Given the description of an element on the screen output the (x, y) to click on. 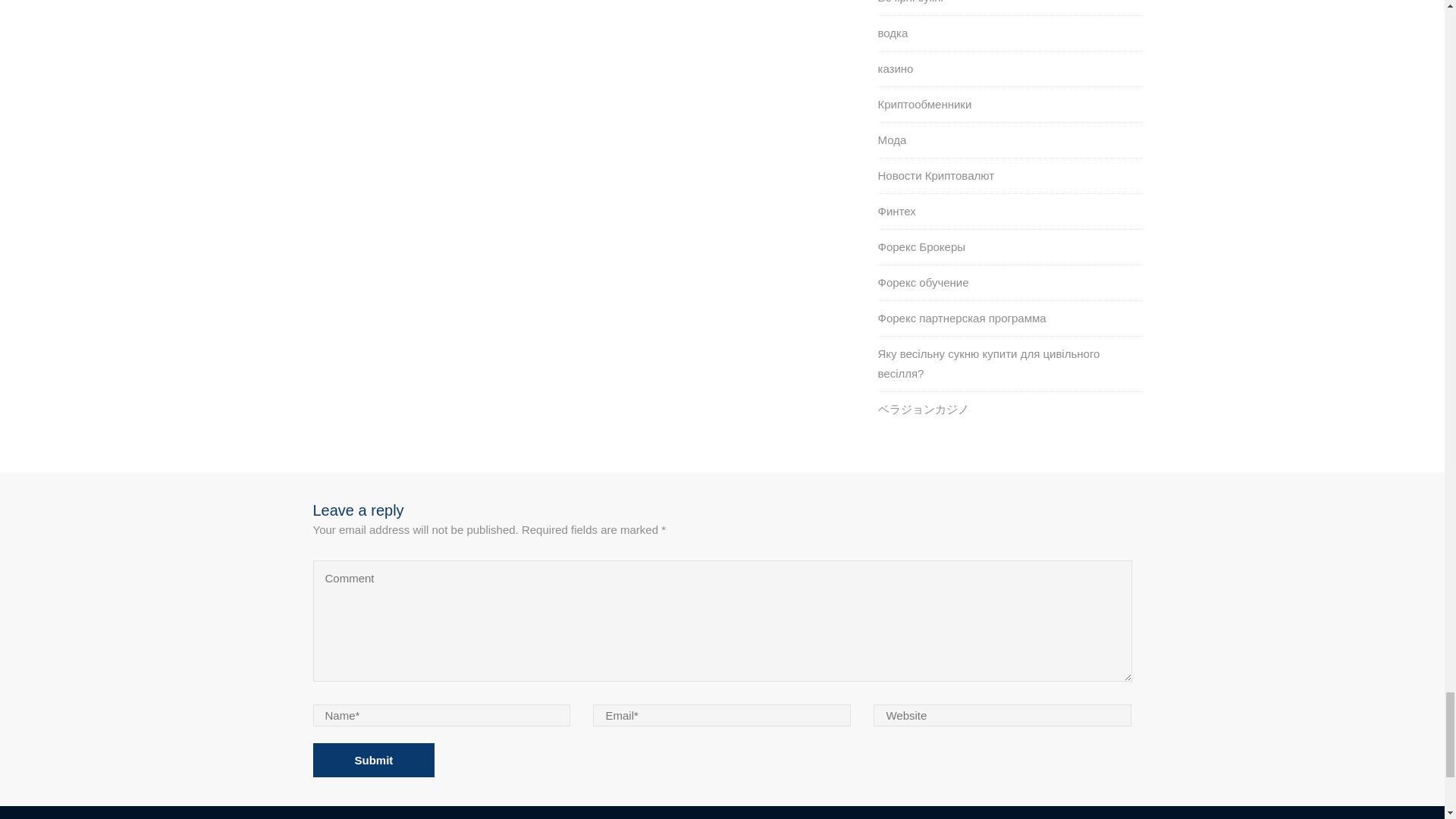
Submit (373, 759)
